Given the description of an element on the screen output the (x, y) to click on. 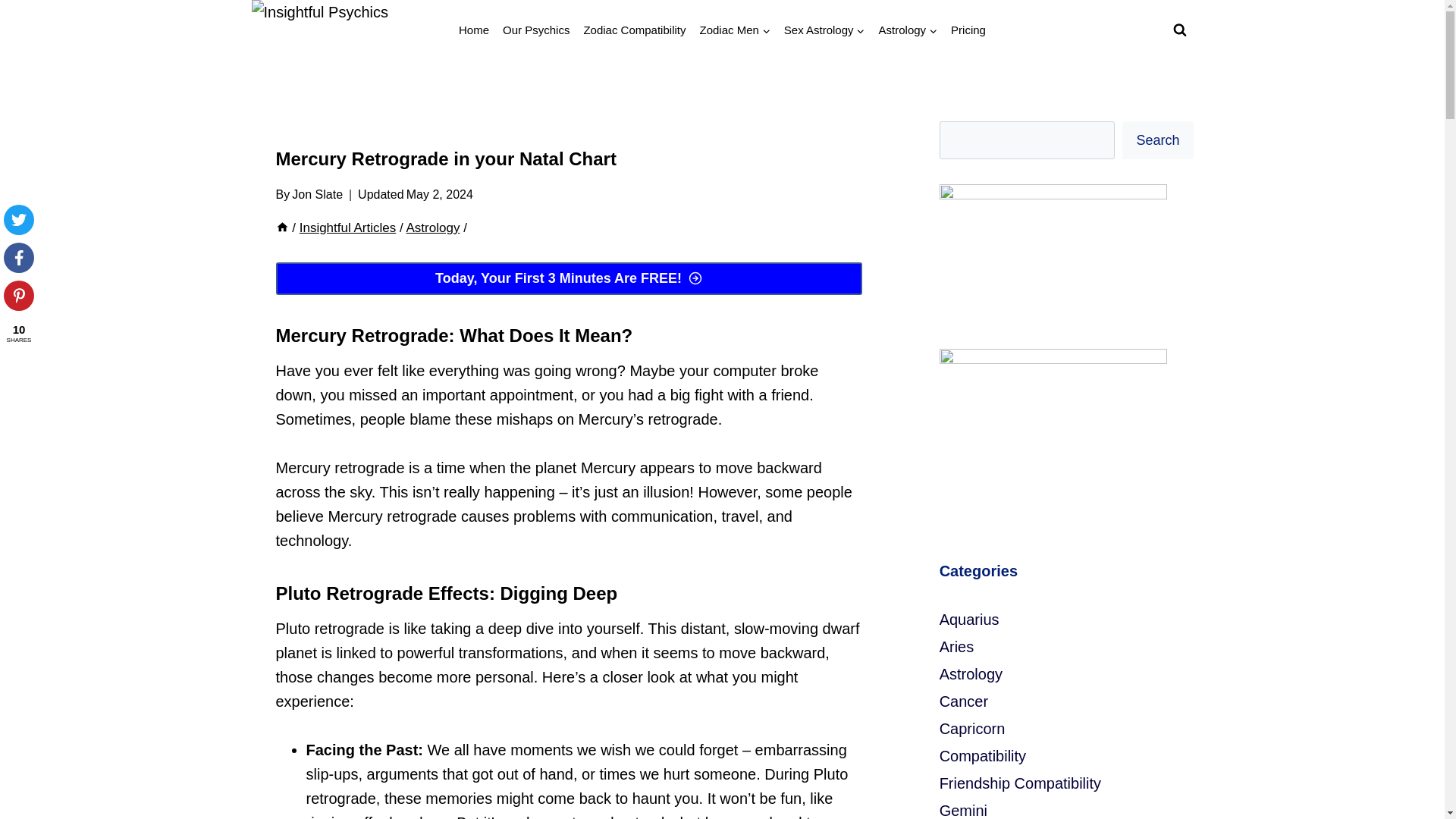
Home (473, 29)
Zodiac Compatibility (634, 29)
Zodiac Men (734, 29)
Our Psychics (536, 29)
Pricing (967, 29)
Astrology (908, 29)
Sex Astrology (824, 29)
Home (282, 227)
